Given the description of an element on the screen output the (x, y) to click on. 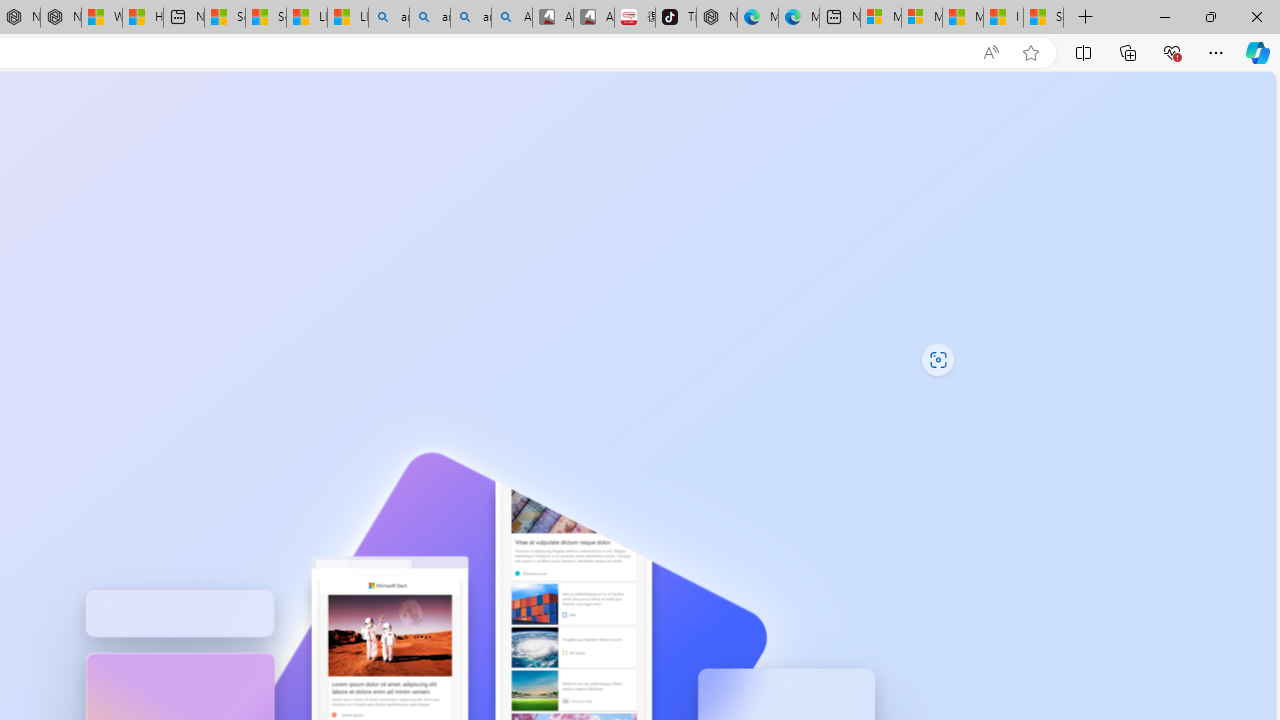
I Gained 20 Pounds of Muscle in 30 Days! | Watch (1003, 17)
Nordace - Summer Adventures 2024 (60, 17)
Wildlife - MSN (101, 17)
TikTok (675, 17)
Huge shark washes ashore at New York City beach | Watch (142, 17)
Microsoft account | Privacy (922, 17)
Nordace - Best Sellers (717, 17)
